Given the description of an element on the screen output the (x, y) to click on. 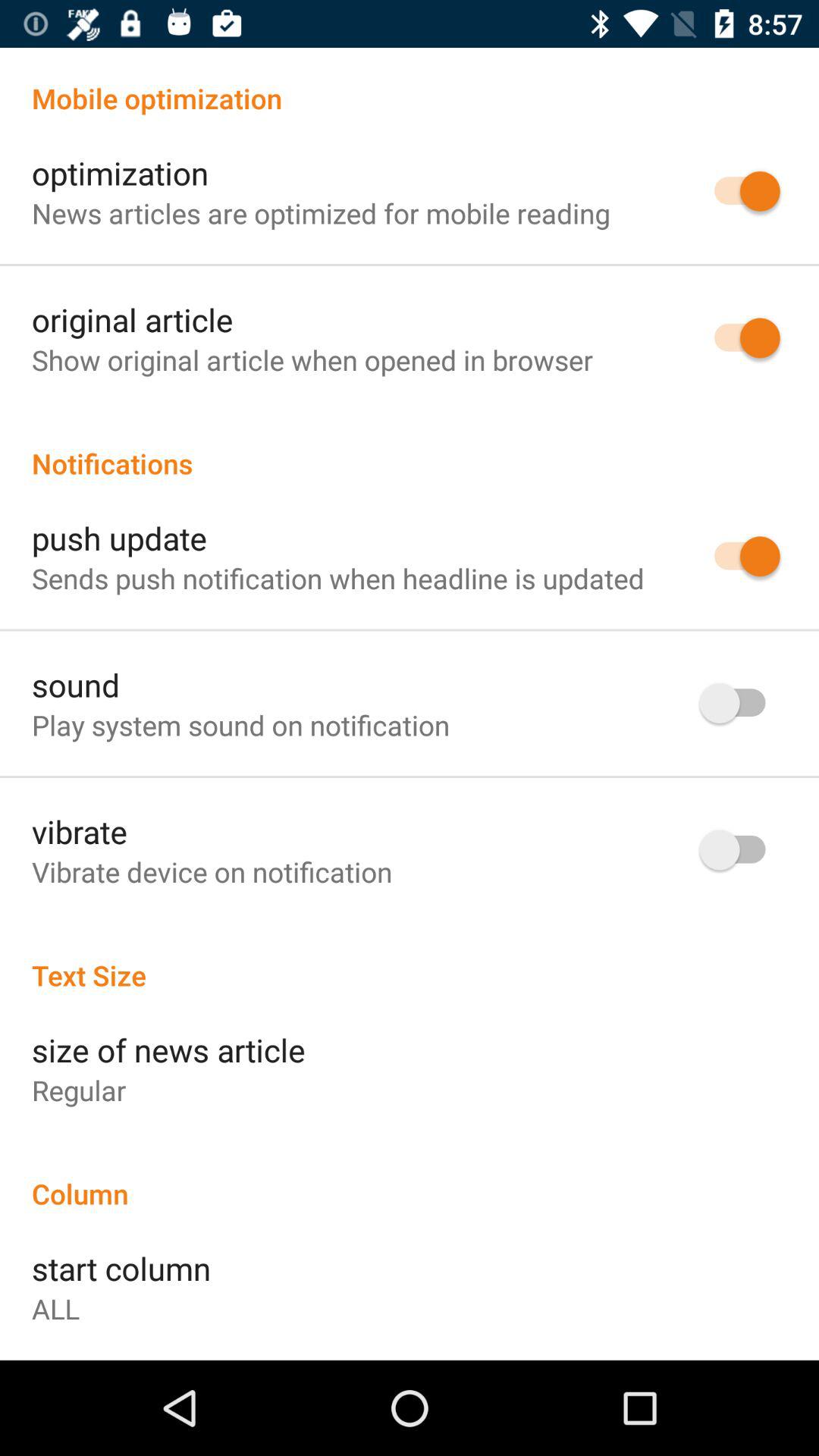
select the item below the show original article app (409, 447)
